Given the description of an element on the screen output the (x, y) to click on. 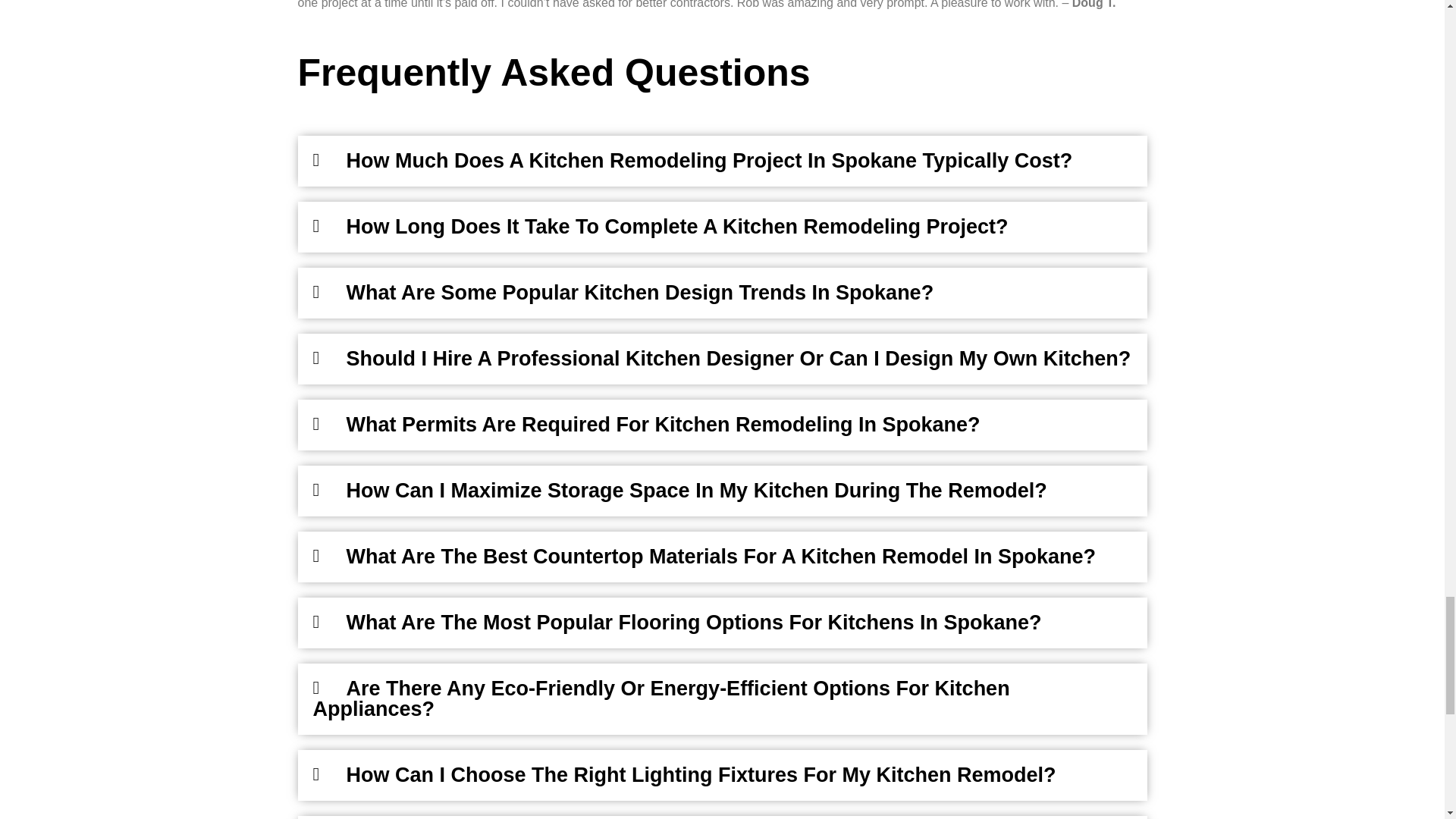
What Are Some Popular Kitchen Design Trends In Spokane? (639, 292)
